Given the description of an element on the screen output the (x, y) to click on. 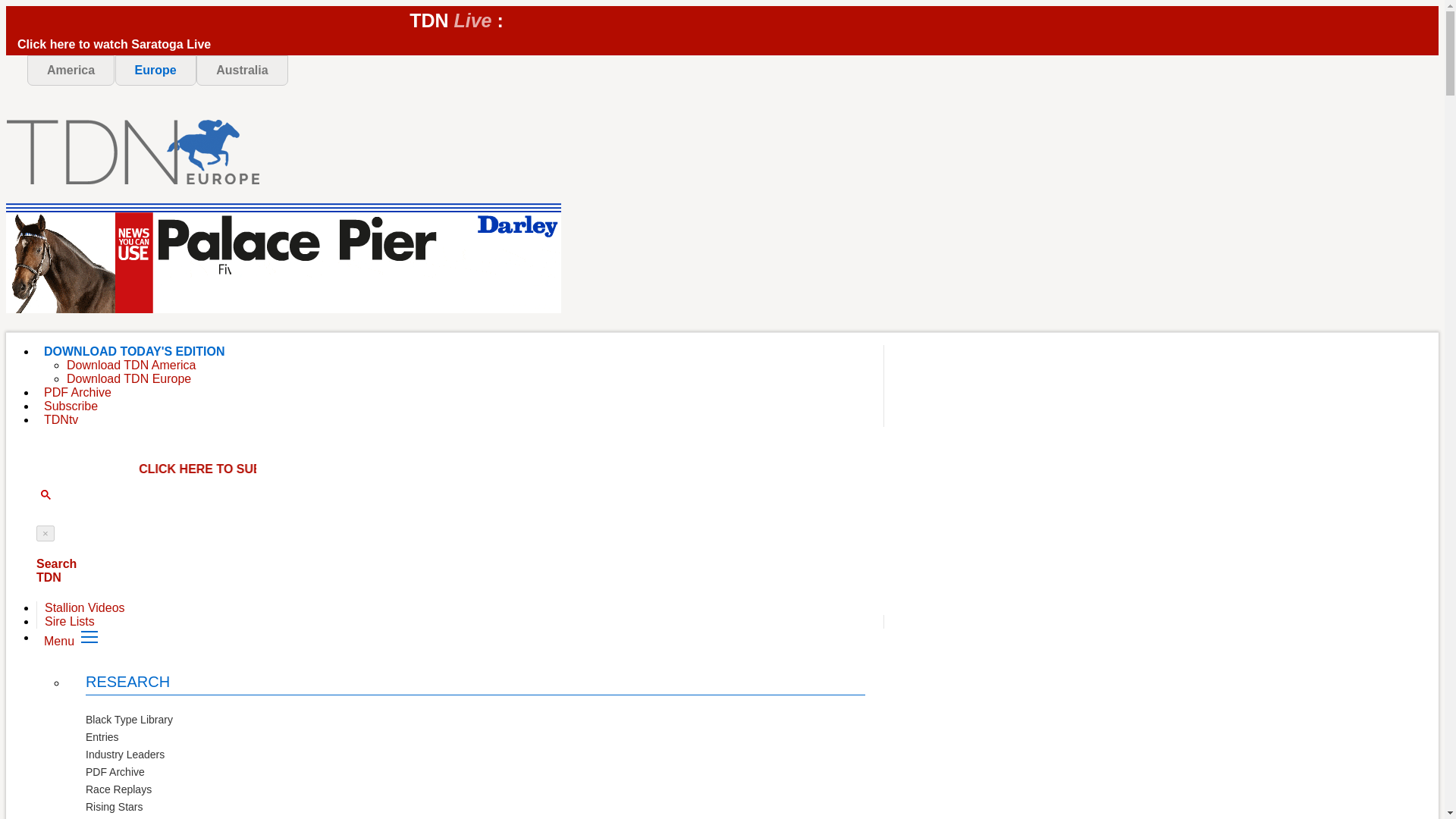
TDN Live : (456, 20)
Entries (102, 737)
Australia (241, 70)
Download TDN America (130, 364)
Download Today's Edition (133, 350)
TDNtv (60, 419)
PDF Archive (114, 772)
CLICK HERE TO SUBSCRIBE TO THE TDN FOR FREE! (399, 468)
Entries (102, 737)
Race Replays (118, 789)
Black Type Library (129, 720)
Click here to watch Saratoga Live (358, 41)
Sire Lists (69, 621)
Subscribe (70, 405)
Stallion Videos (84, 607)
